Given the description of an element on the screen output the (x, y) to click on. 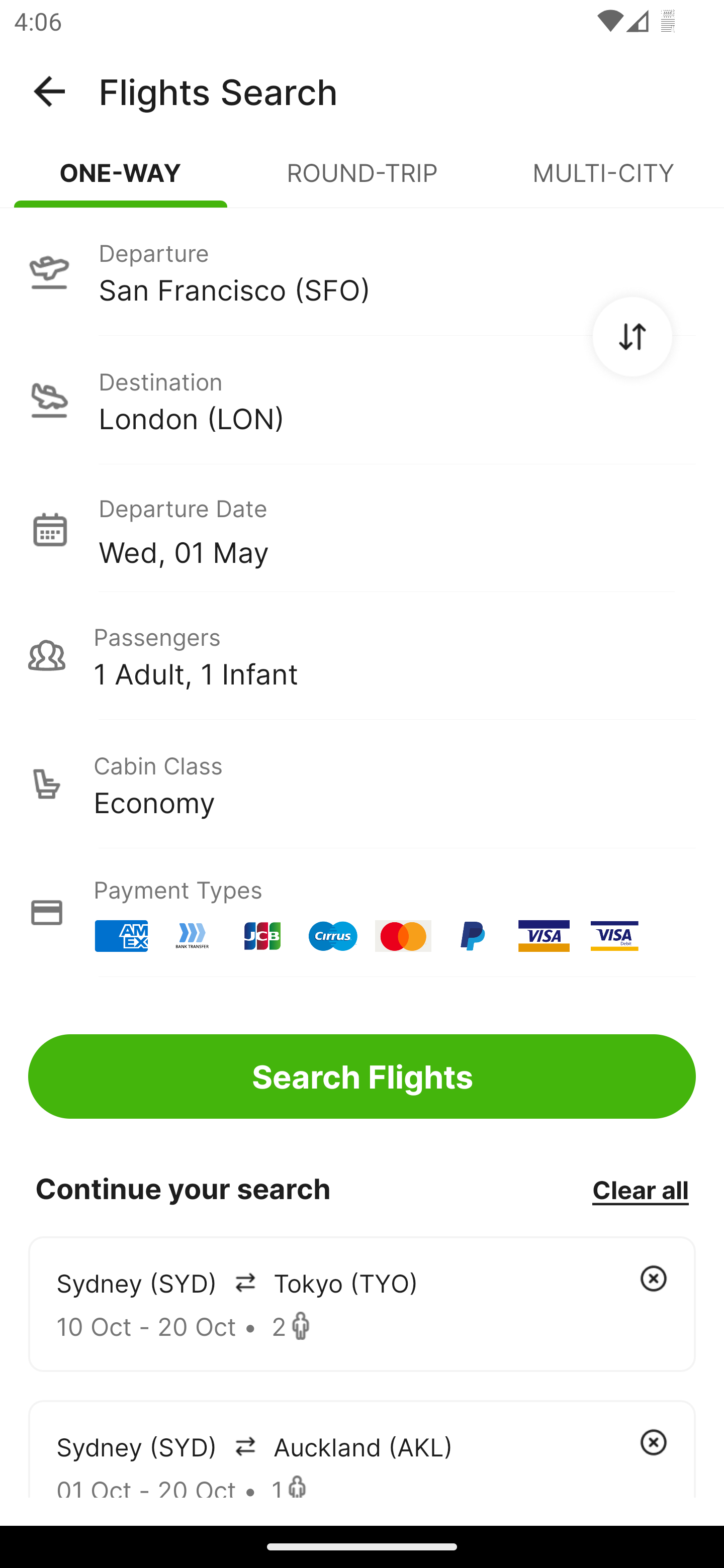
ONE-WAY (120, 180)
ROUND-TRIP (361, 180)
MULTI-CITY (603, 180)
Departure San Francisco (SFO) (362, 270)
Destination London (LON) (362, 400)
Departure Date Wed, 01 May (396, 528)
Passengers 1 Adult, 1 Infant (362, 655)
Cabin Class Economy (362, 783)
Payment Types (362, 912)
Search Flights (361, 1075)
Clear all (640, 1189)
